Given the description of an element on the screen output the (x, y) to click on. 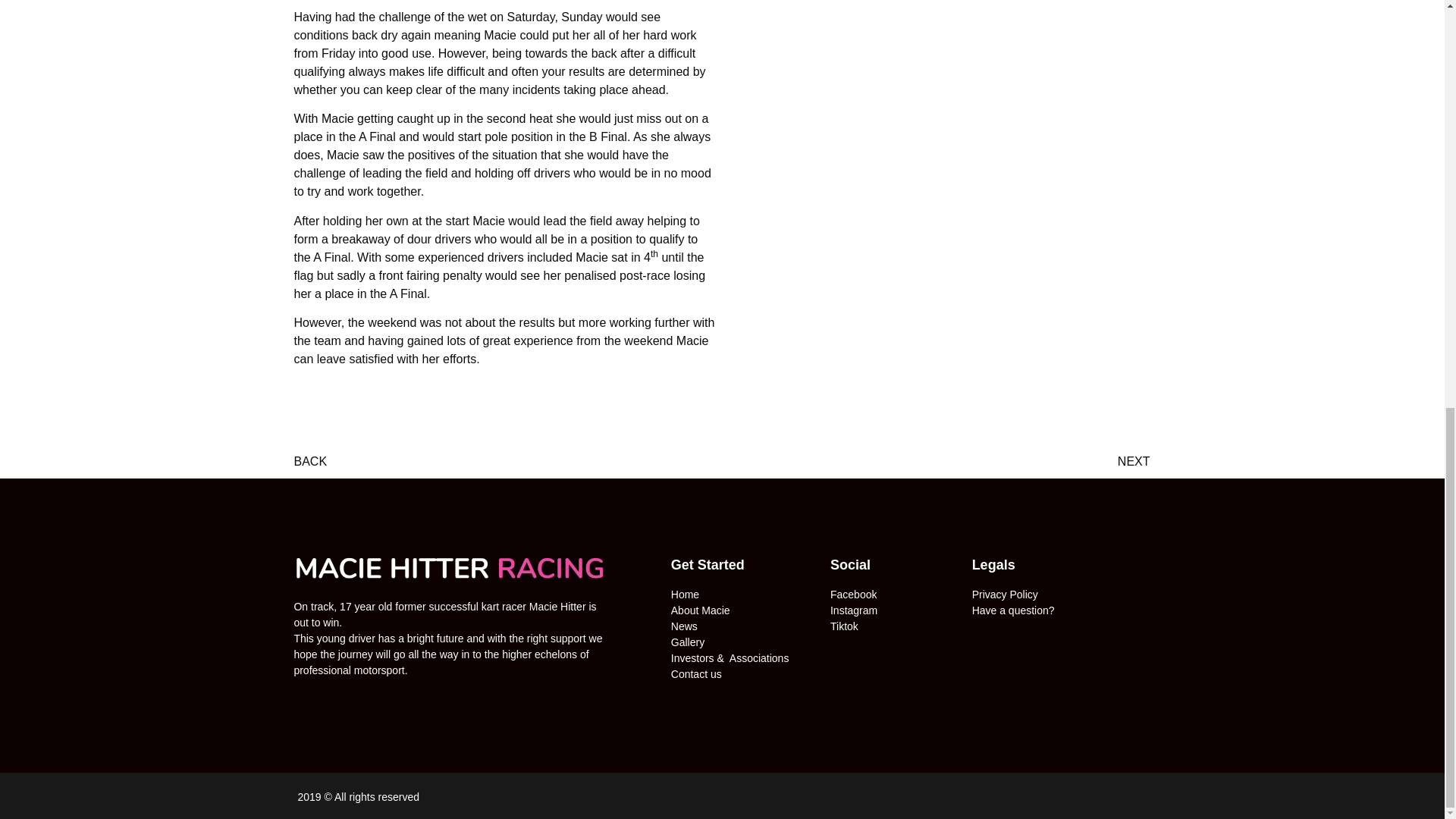
Home (684, 594)
News (684, 625)
NEXT (936, 461)
Privacy Policy (1005, 594)
Tiktok (844, 625)
About Macie (700, 610)
Have a question? (1013, 610)
Facebook (852, 594)
Contact us (696, 674)
Instagram (853, 610)
